Given the description of an element on the screen output the (x, y) to click on. 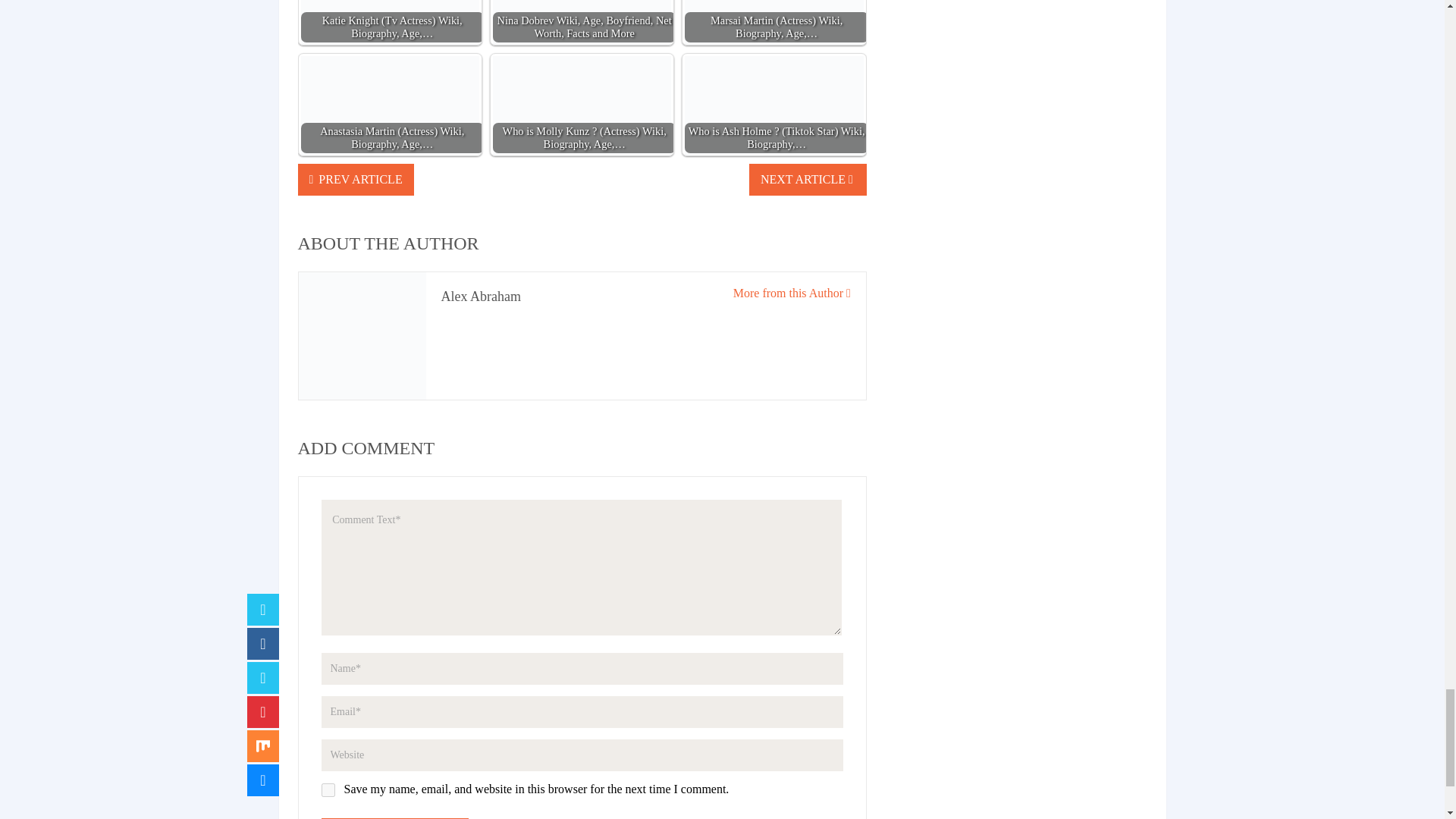
yes (327, 789)
